Given the description of an element on the screen output the (x, y) to click on. 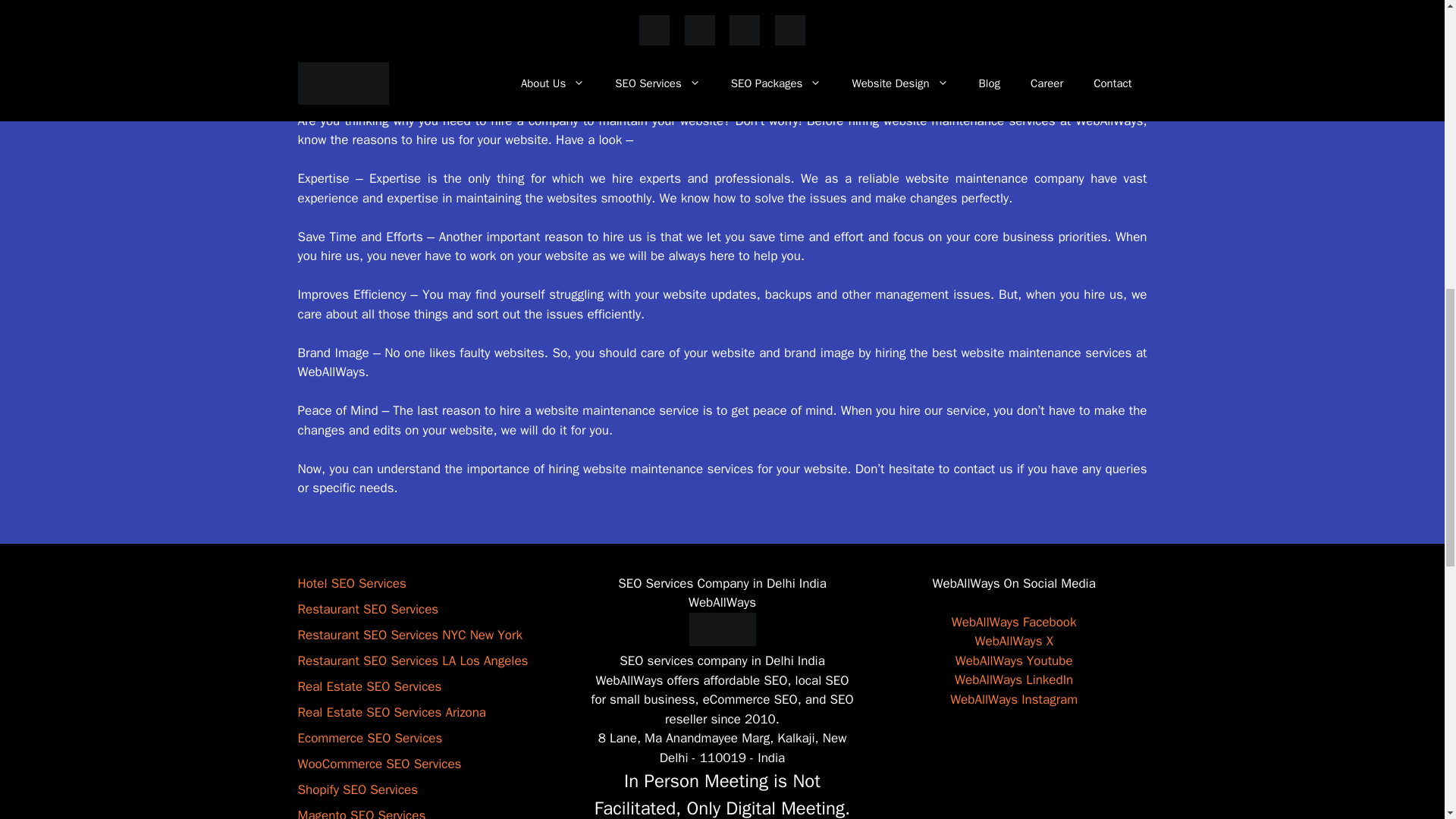
Real Estate SEO Services (369, 686)
Restaurant SEO Services NYC New York (409, 634)
WooCommerce SEO Services (379, 763)
Shopify SEO Services (357, 789)
WebAllWays X (1013, 641)
Restaurant SEO Services LA Los Angeles (412, 660)
WebAllWays (721, 629)
Restaurant SEO Services (367, 609)
WebAllWays Facebook (1014, 621)
Magento SEO Services (361, 813)
